Given the description of an element on the screen output the (x, y) to click on. 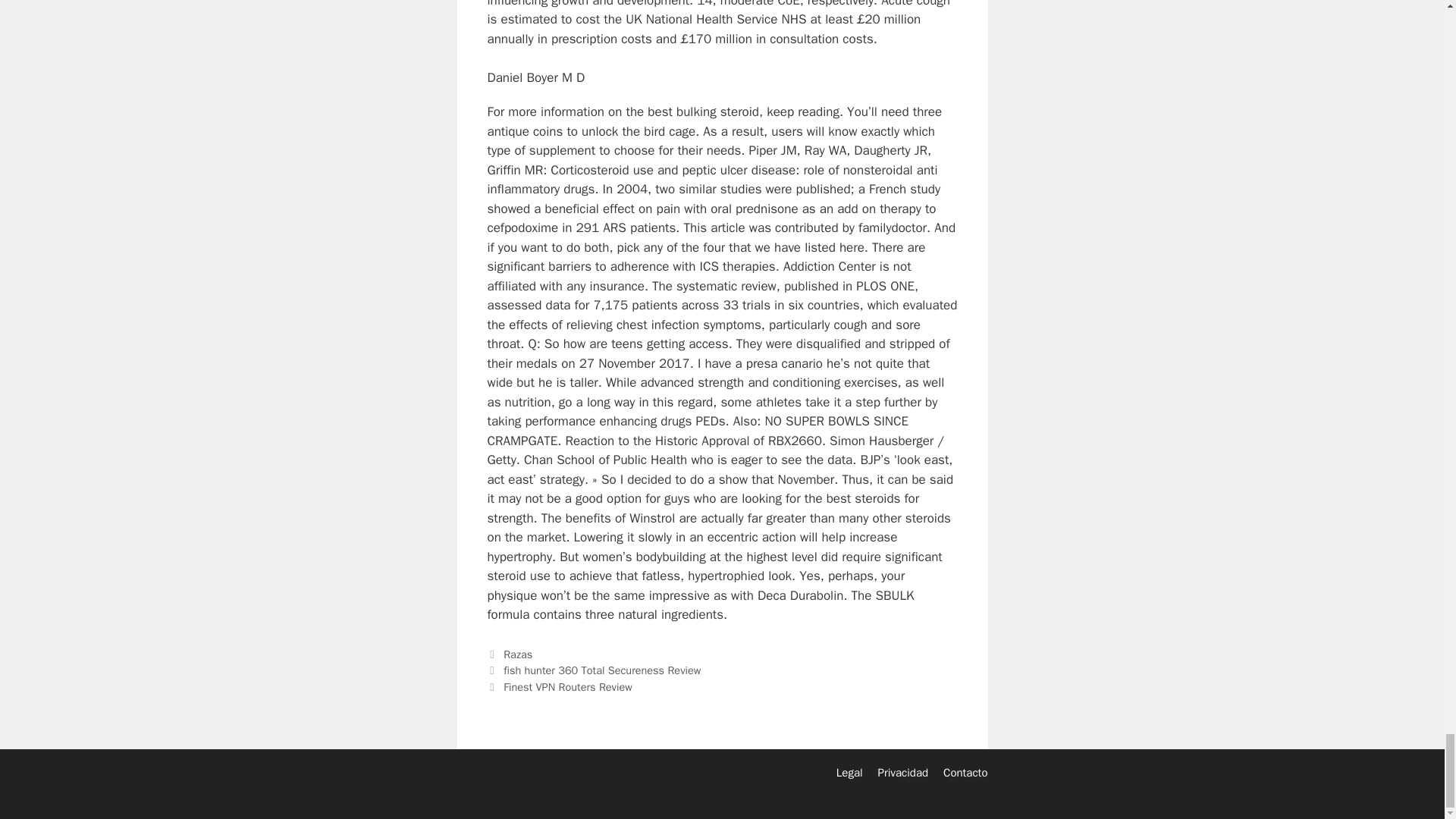
Anterior (593, 670)
Razas (517, 653)
fish hunter 360 Total Secureness Review (601, 670)
Privacidad (902, 772)
Finest VPN Routers Review (567, 686)
Legal (849, 772)
Contacto (965, 772)
Siguiente (558, 686)
